Given the description of an element on the screen output the (x, y) to click on. 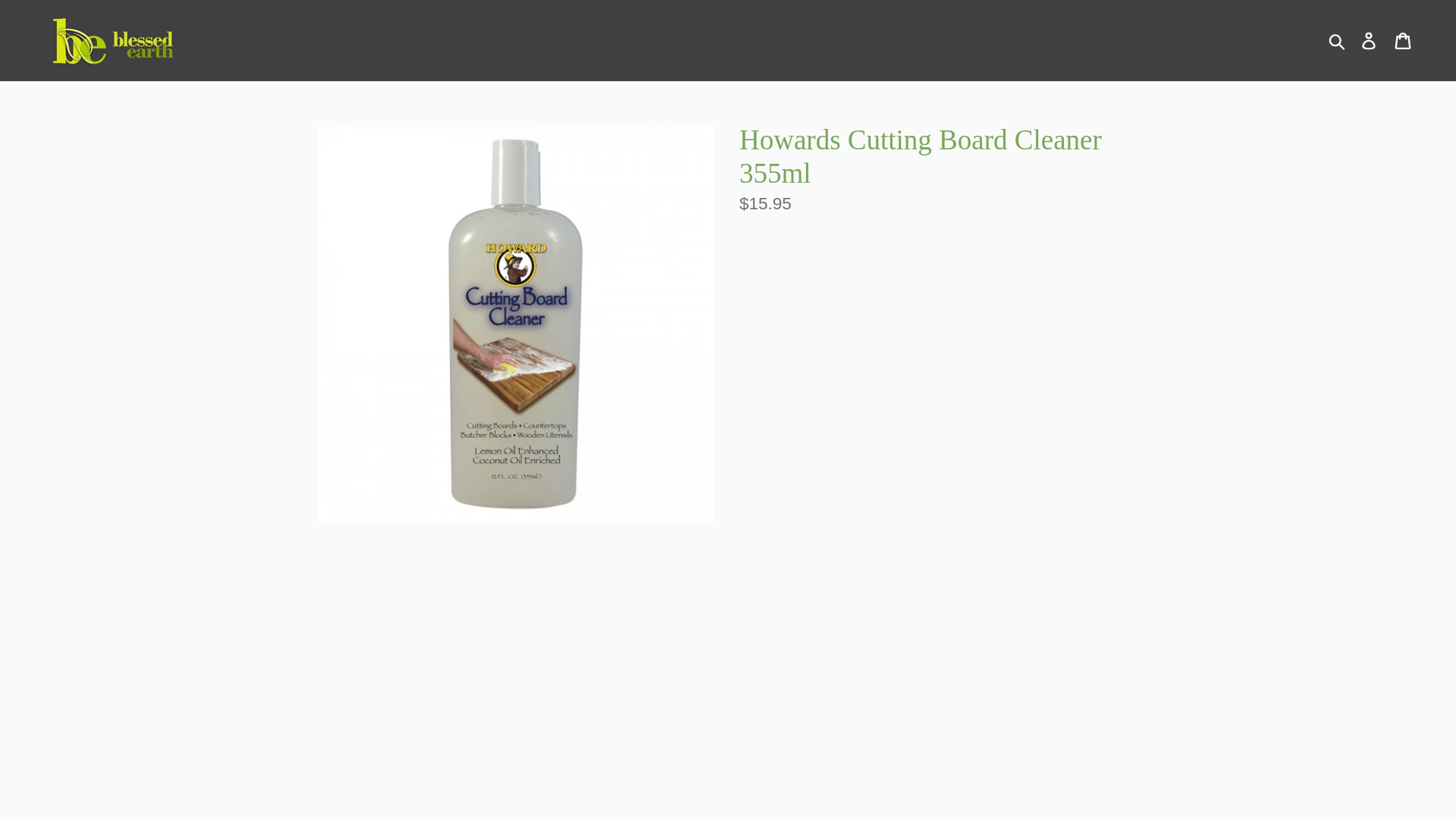
Cart (1404, 40)
Submit (1337, 40)
Log in (1369, 40)
